Given the description of an element on the screen output the (x, y) to click on. 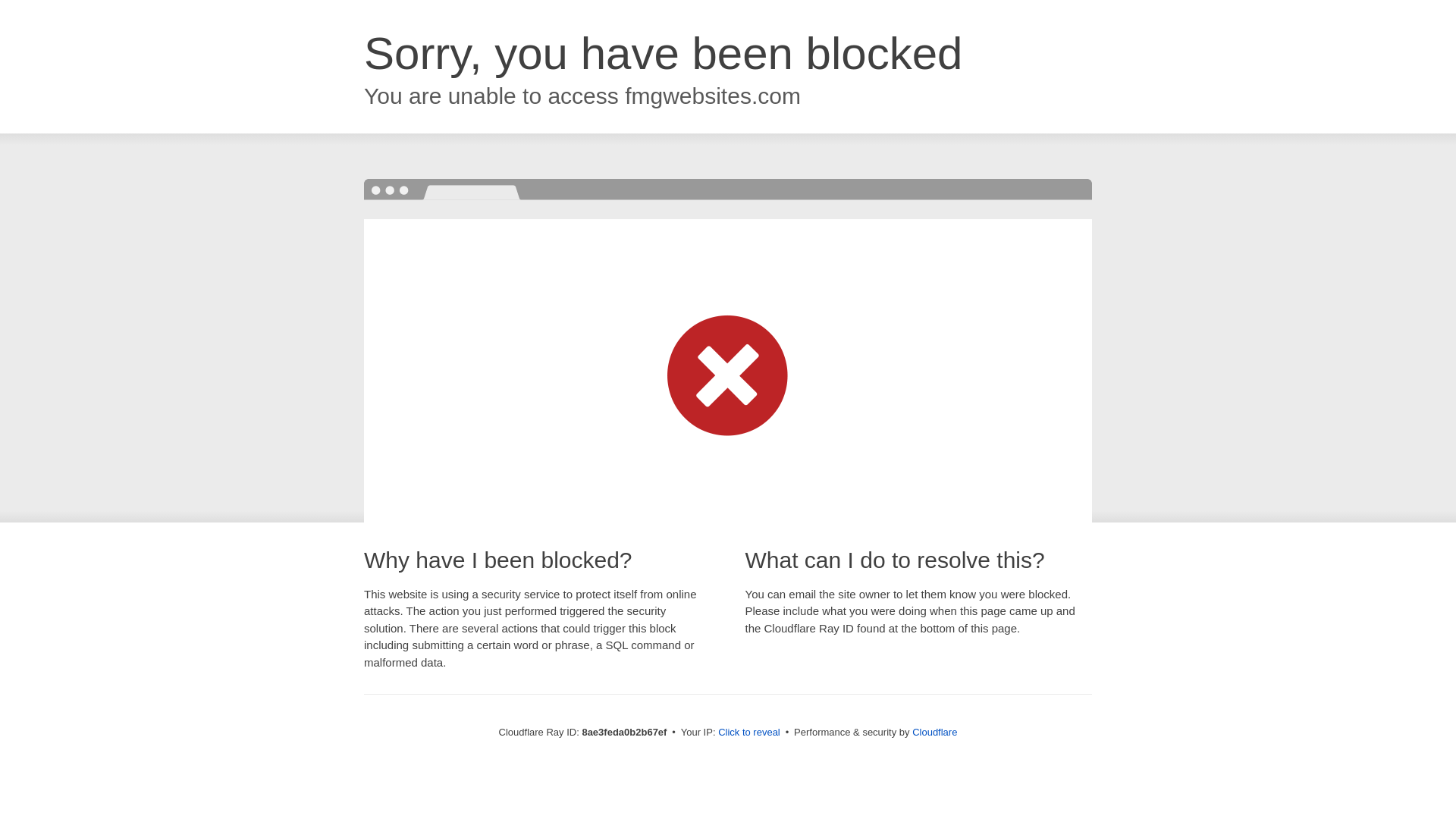
Cloudflare (934, 731)
Click to reveal (748, 732)
